Given the description of an element on the screen output the (x, y) to click on. 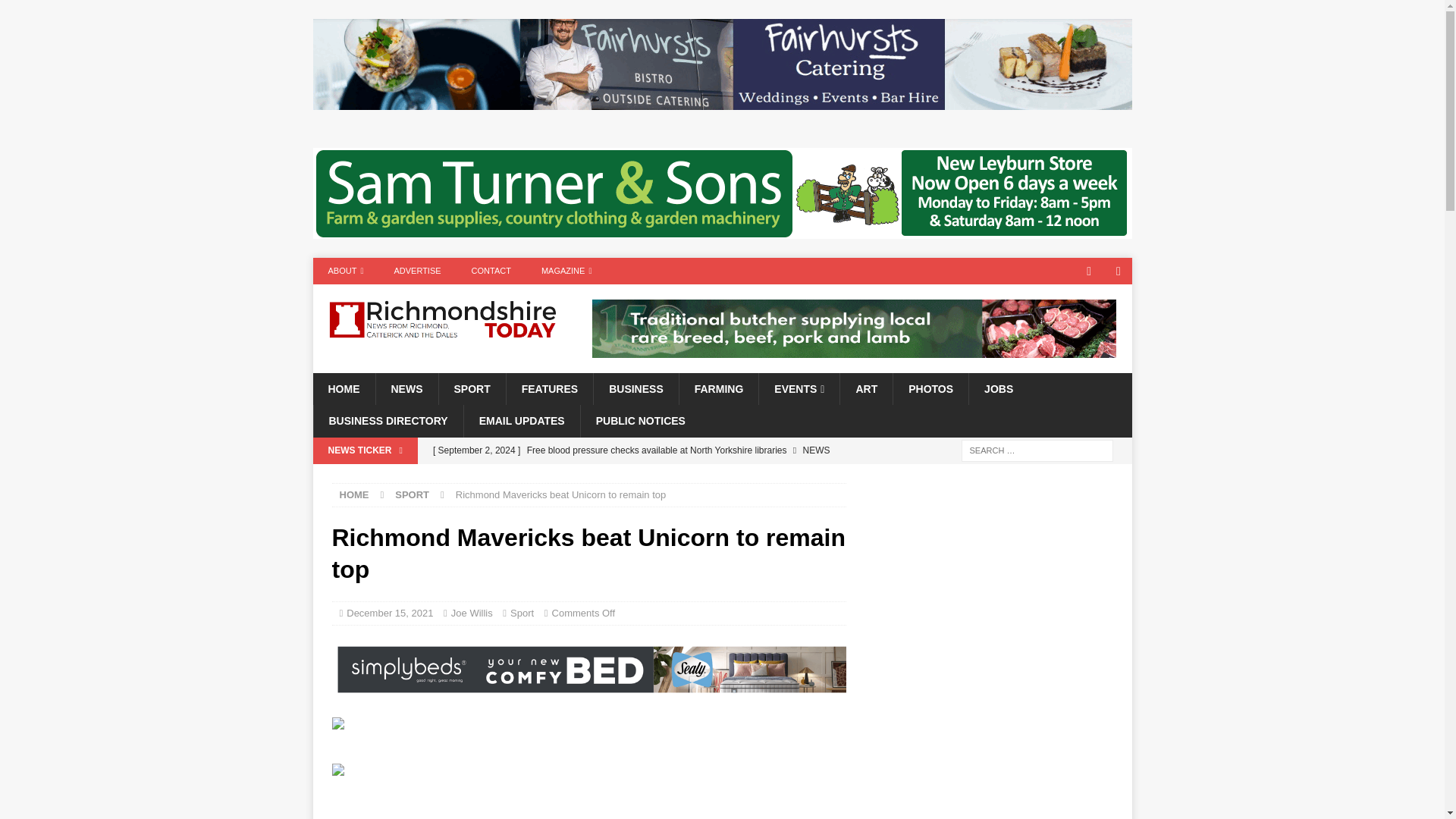
NEWS (406, 388)
BUSINESS DIRECTORY (388, 420)
BUSINESS (635, 388)
PUBLIC NOTICES (639, 420)
ABOUT (345, 270)
Plans submitted for Leyburn affordable housing scheme (634, 475)
MAGAZINE (566, 270)
ADVERTISE (416, 270)
JOBS (997, 388)
FEATURES (548, 388)
